Given the description of an element on the screen output the (x, y) to click on. 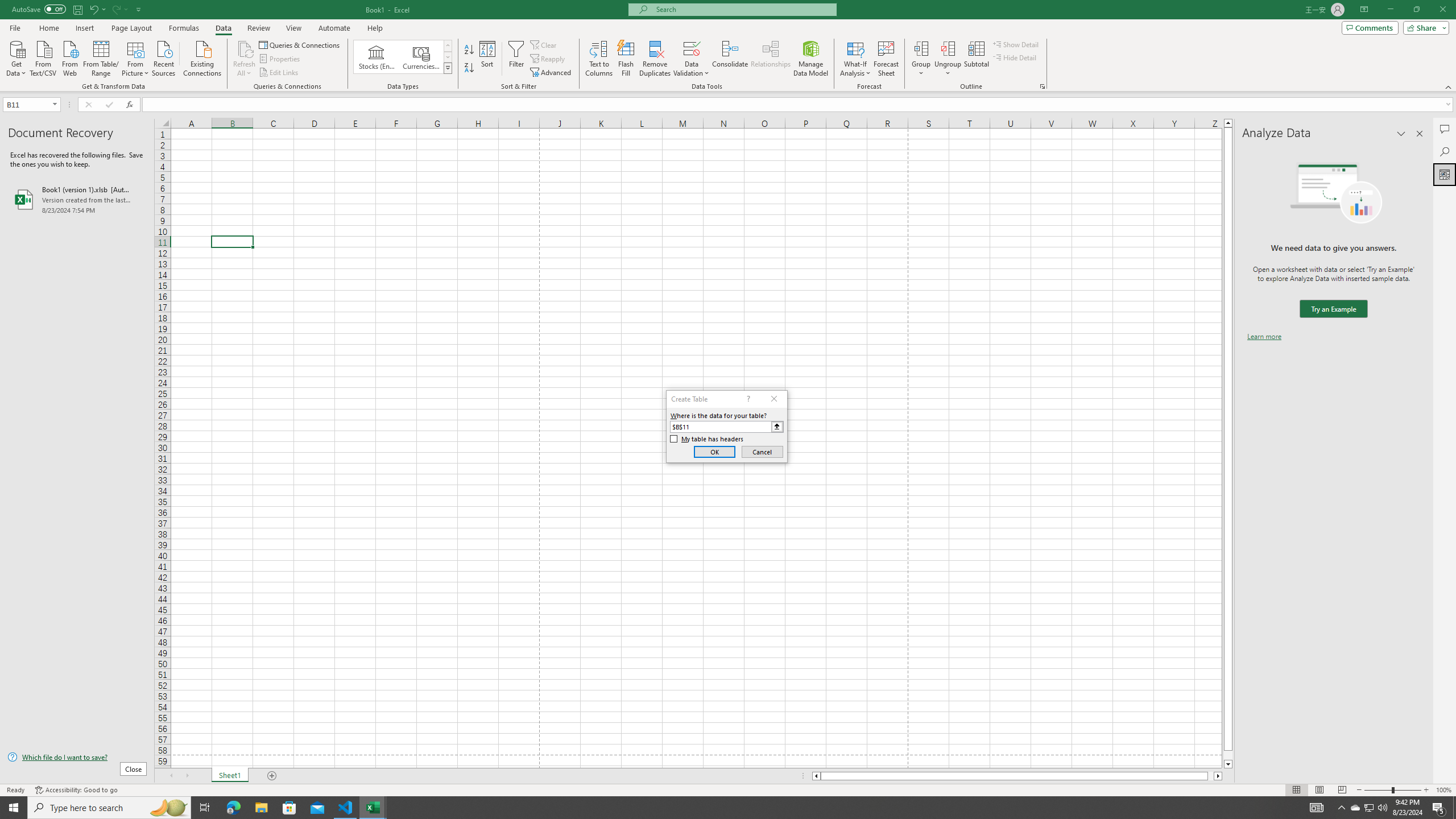
Group and Outline Settings (1042, 85)
Data Validation... (691, 48)
Normal (1296, 790)
Currencies (English) (420, 56)
Sort... (487, 58)
Formula Bar (799, 104)
Page Break Preview (1342, 790)
Column right (1218, 775)
View (293, 28)
Close (1442, 9)
Insert (83, 28)
Automate (334, 28)
Flash Fill (625, 58)
